Given the description of an element on the screen output the (x, y) to click on. 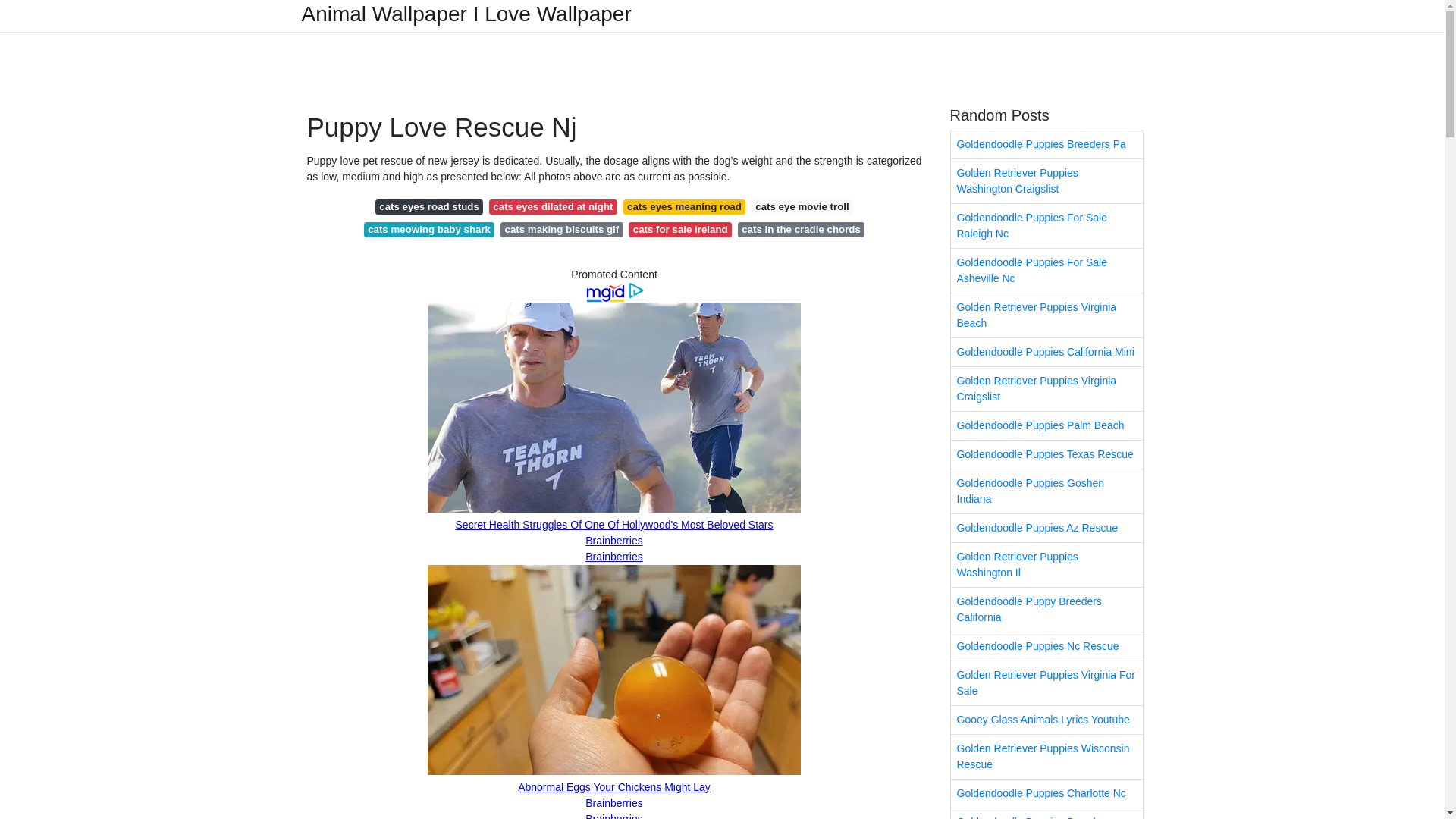
Goldendoodle Puppies For Sale Raleigh Nc (1046, 225)
Golden Retriever Puppies Washington Craigslist (1046, 180)
cats in the cradle chords (801, 229)
Goldendoodle Puppies Palm Beach (1046, 425)
Golden Retriever Puppies Virginia Beach (1046, 315)
Goldendoodle Puppies For Sale Asheville Nc (1046, 270)
cats meowing baby shark (429, 229)
Animal Wallpaper I Love Wallpaper (466, 13)
Golden Retriever Puppies Virginia Craigslist (1046, 388)
Goldendoodle Puppies Breeders Pa (1046, 144)
cats eye movie troll (802, 206)
cats eyes road studs (429, 206)
Goldendoodle Puppies Goshen Indiana (1046, 491)
Goldendoodle Puppies California Mini (1046, 352)
cats making biscuits gif (561, 229)
